Given the description of an element on the screen output the (x, y) to click on. 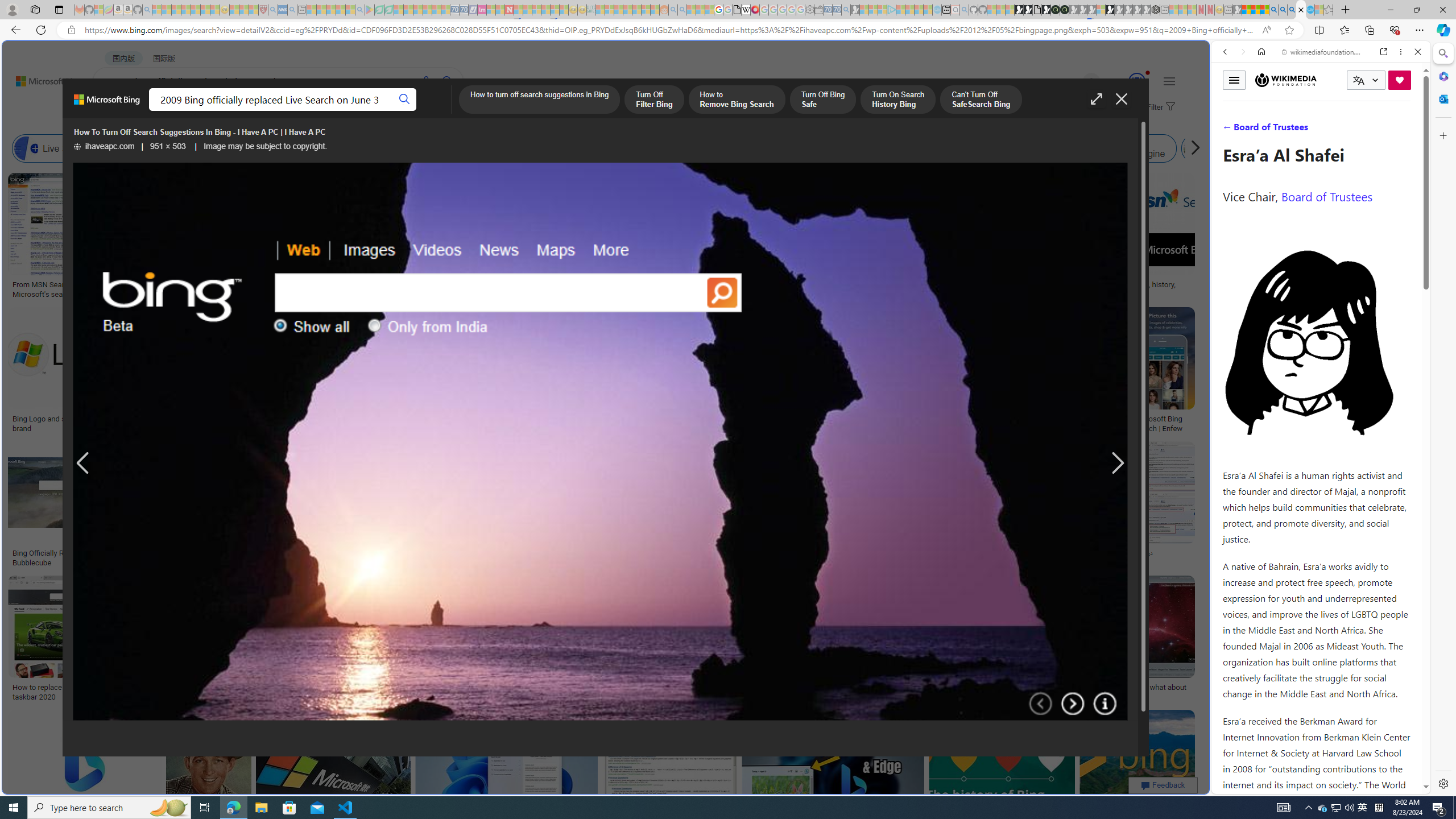
Bing Picture Search Engine (280, 148)
ACADEMIC (360, 111)
Remove the 'News & Interests' bar from Bing | TechLife (860, 419)
wikimediafoundation.org (1323, 51)
